Given the description of an element on the screen output the (x, y) to click on. 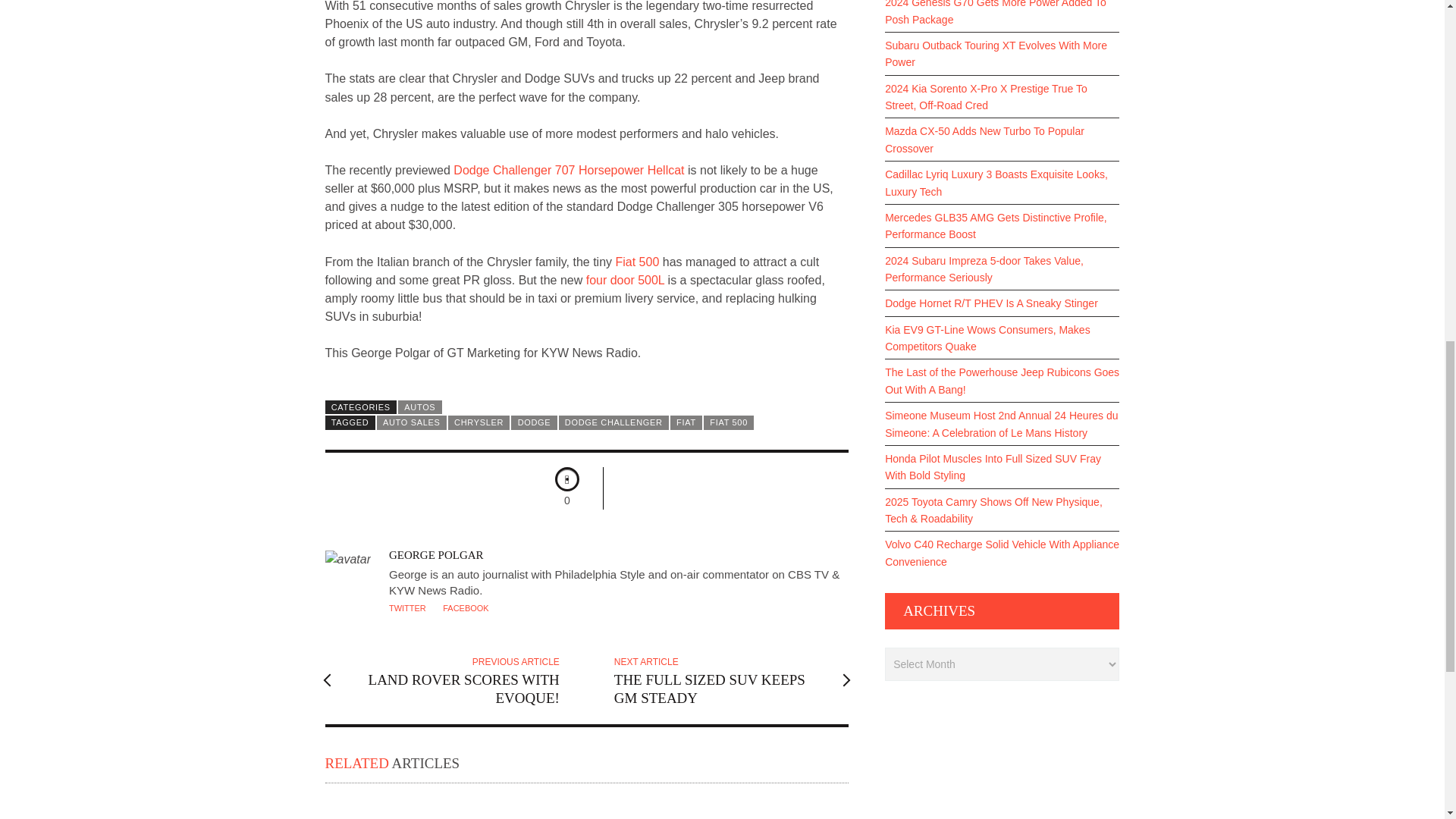
View all posts tagged Fiat 500 (728, 422)
Posts by George Polgar (435, 554)
View all posts tagged Dodge Challenger (613, 422)
View all posts tagged Dodge (533, 422)
View all posts tagged Chrysler (479, 422)
View all posts in autos (419, 407)
View all posts tagged Auto Sales (411, 422)
View all posts tagged Fiat (685, 422)
